Given the description of an element on the screen output the (x, y) to click on. 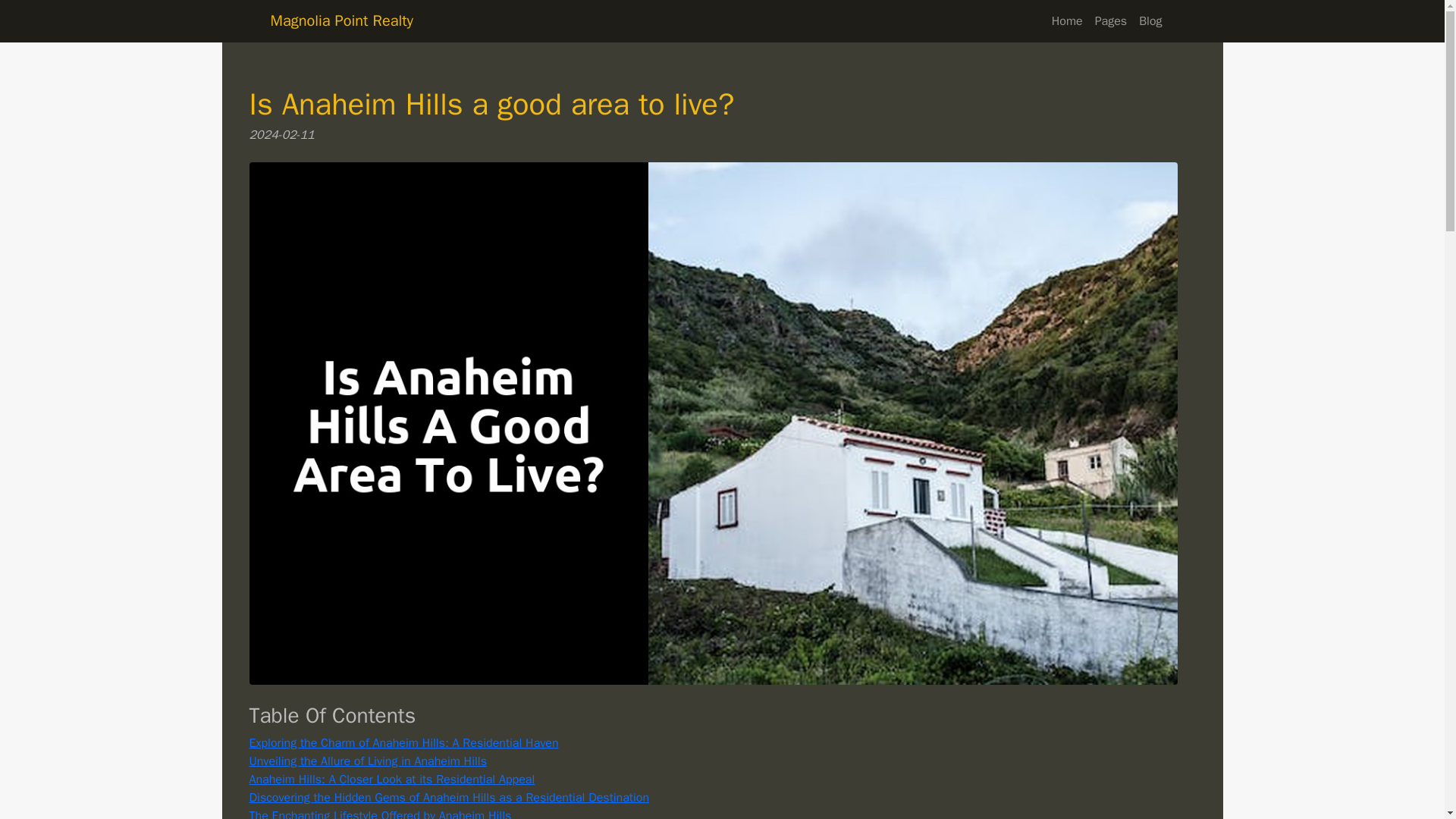
Anaheim Hills: A Closer Look at its Residential Appeal (391, 779)
Pages (1111, 20)
Magnolia Point Realty (341, 20)
Unveiling the Allure of Living in Anaheim Hills (367, 761)
Home (1067, 20)
Blog (1149, 20)
Exploring the Charm of Anaheim Hills: A Residential Haven (402, 743)
The Enchanting Lifestyle Offered by Anaheim Hills (379, 813)
